Given the description of an element on the screen output the (x, y) to click on. 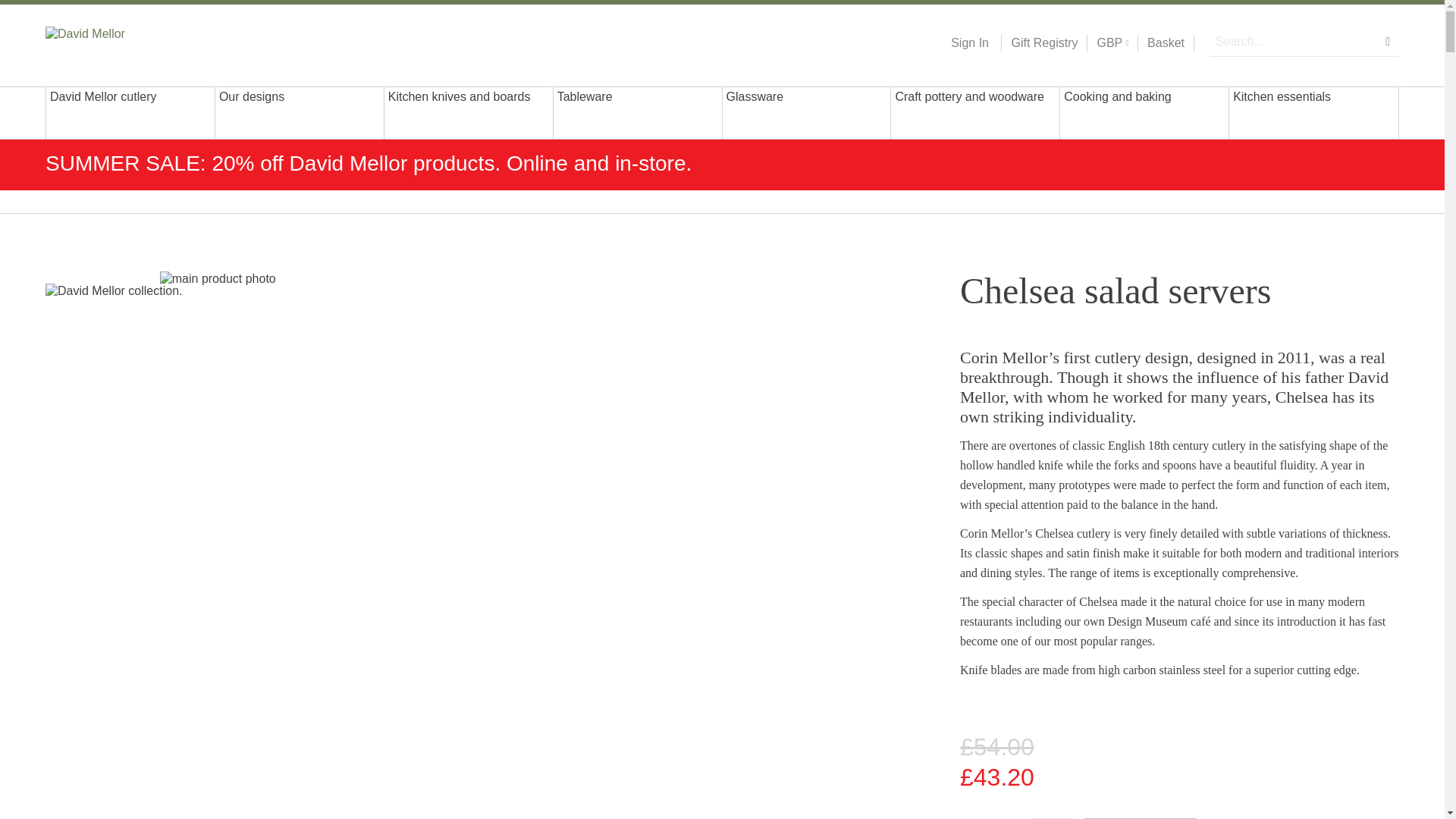
Qty (1052, 818)
David Mellor cutlery (130, 112)
Search (1388, 41)
David Mellor (143, 42)
Sign In (969, 43)
1 (1052, 818)
Gift Registry (1039, 43)
Basket (1166, 43)
Search (1388, 41)
